Given the description of an element on the screen output the (x, y) to click on. 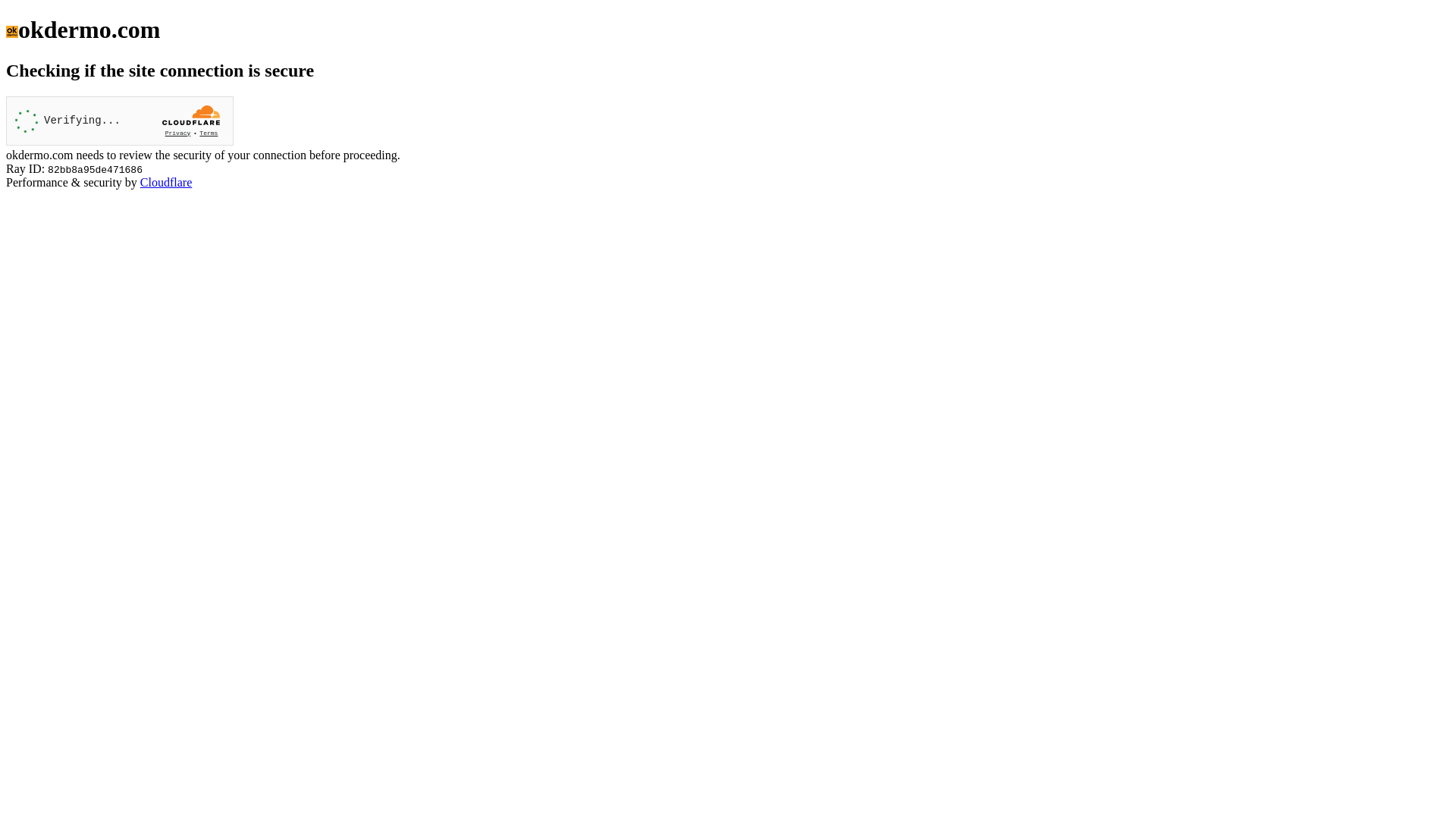
Cloudflare Element type: text (165, 181)
Widget containing a Cloudflare security challenge Element type: hover (119, 120)
